Given the description of an element on the screen output the (x, y) to click on. 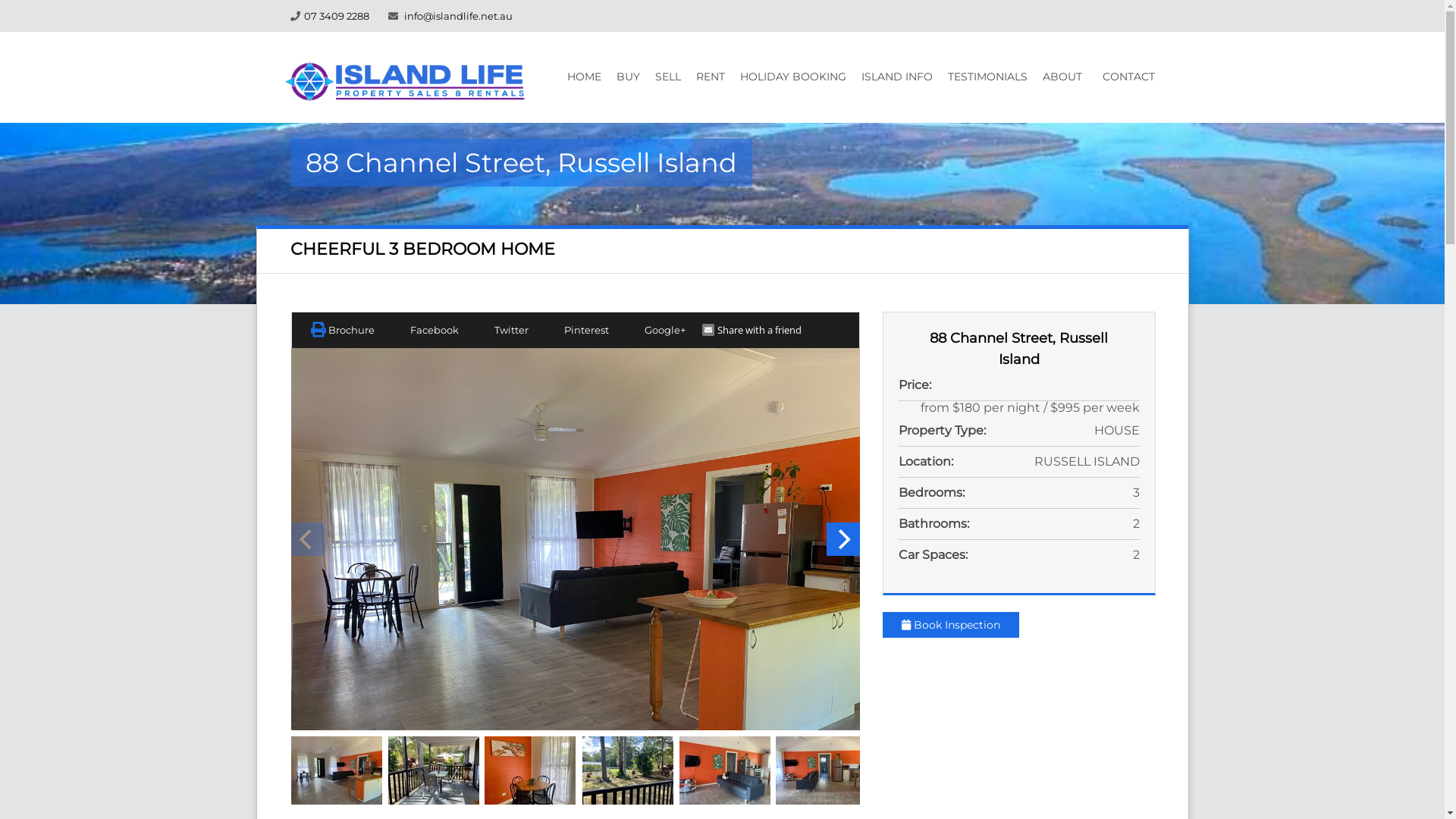
BUY Element type: text (627, 76)
View full-screen Element type: hover (575, 539)
SELL Element type: text (667, 76)
HOLIDAY BOOKING Element type: text (793, 76)
07 3409 2288 Element type: text (335, 15)
info@islandlife.net.au Element type: text (457, 15)
Facebook Element type: text (425, 329)
RENT Element type: text (710, 76)
Book Inspection Element type: text (950, 624)
ABOUT Element type: text (1061, 76)
CONTACT Element type: text (1128, 76)
Brochure Element type: text (342, 329)
Pinterest Element type: text (577, 329)
Google+ Element type: text (655, 329)
HOME Element type: text (584, 76)
TESTIMONIALS Element type: text (987, 76)
Twitter Element type: text (501, 329)
ISLAND INFO Element type: text (896, 76)
